Given the description of an element on the screen output the (x, y) to click on. 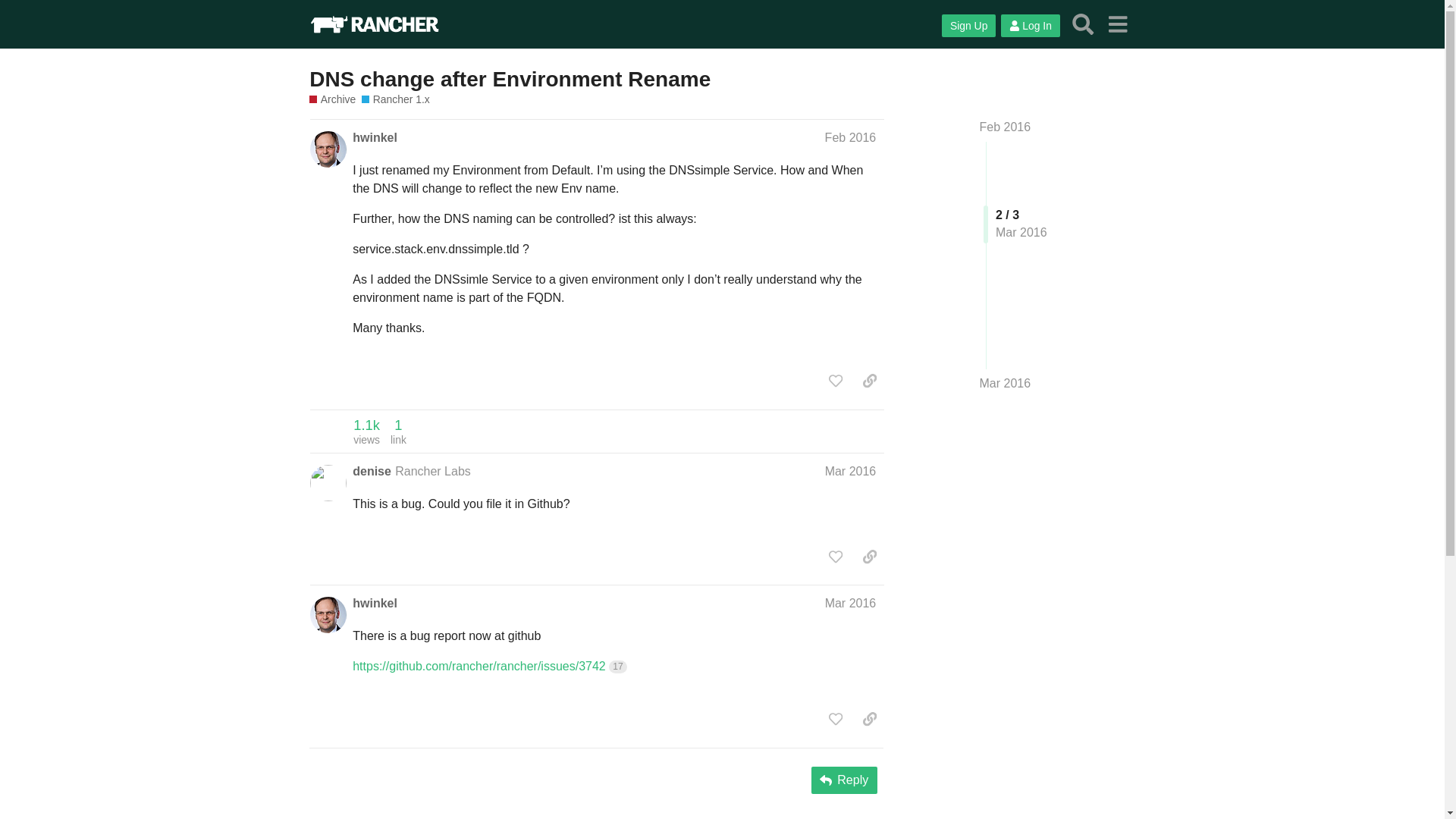
Log In (1030, 25)
Mar 2016 (366, 431)
like this post (1004, 383)
Post date (835, 556)
Search (850, 137)
denise (1082, 23)
Mar 2016 (371, 470)
Feb 2016 (850, 470)
copy a link to this post to clipboard (1004, 126)
